Given the description of an element on the screen output the (x, y) to click on. 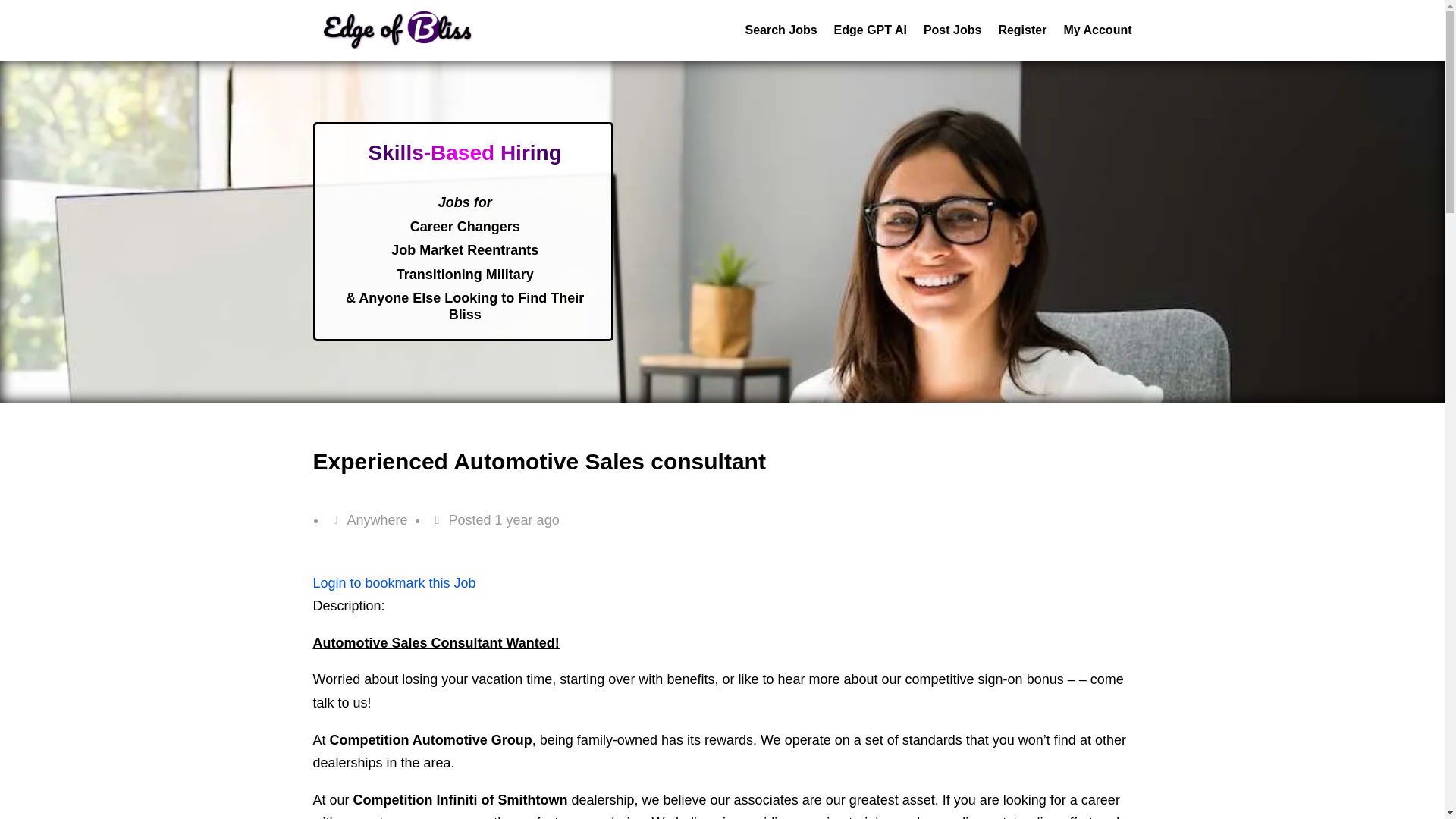
Edge GPT AI (870, 42)
Search Jobs (780, 42)
My Account (1096, 42)
Login to bookmark this Job (394, 582)
Post Jobs (952, 42)
Register (1021, 42)
